Given the description of an element on the screen output the (x, y) to click on. 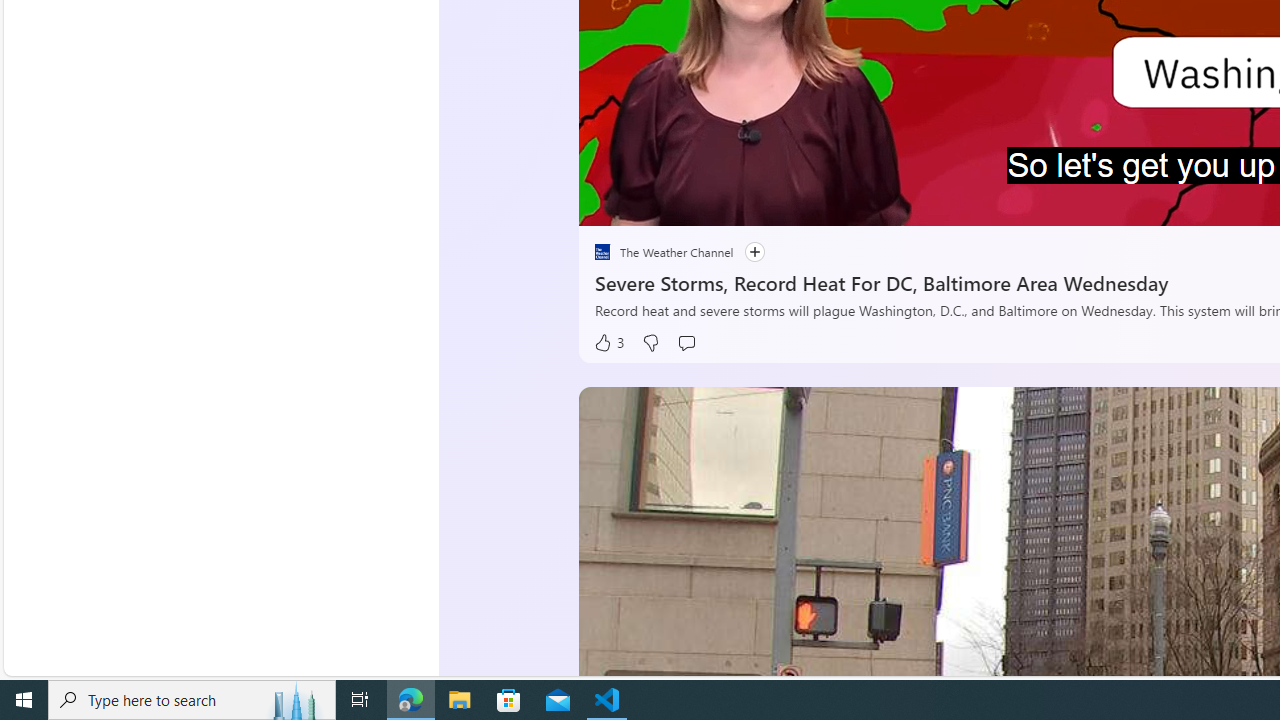
Pause (607, 203)
Seek Forward (688, 203)
Follow (744, 251)
3 Like (608, 343)
Seek Back (648, 203)
placeholder The Weather Channel (663, 252)
To get missing image descriptions, open the context menu. (648, 202)
placeholder (601, 252)
